Given the description of an element on the screen output the (x, y) to click on. 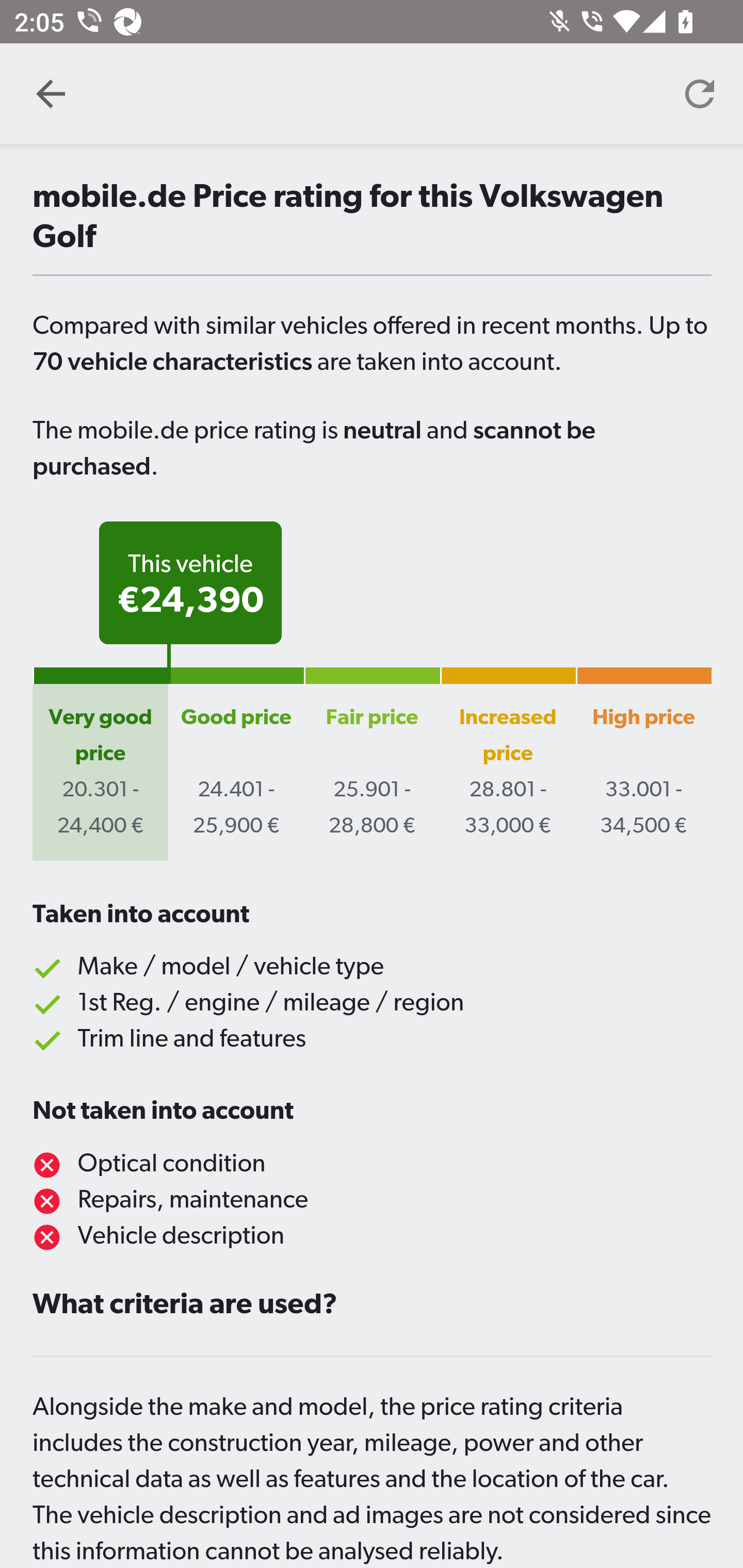
Navigate up (50, 93)
synchronize (699, 93)
